Given the description of an element on the screen output the (x, y) to click on. 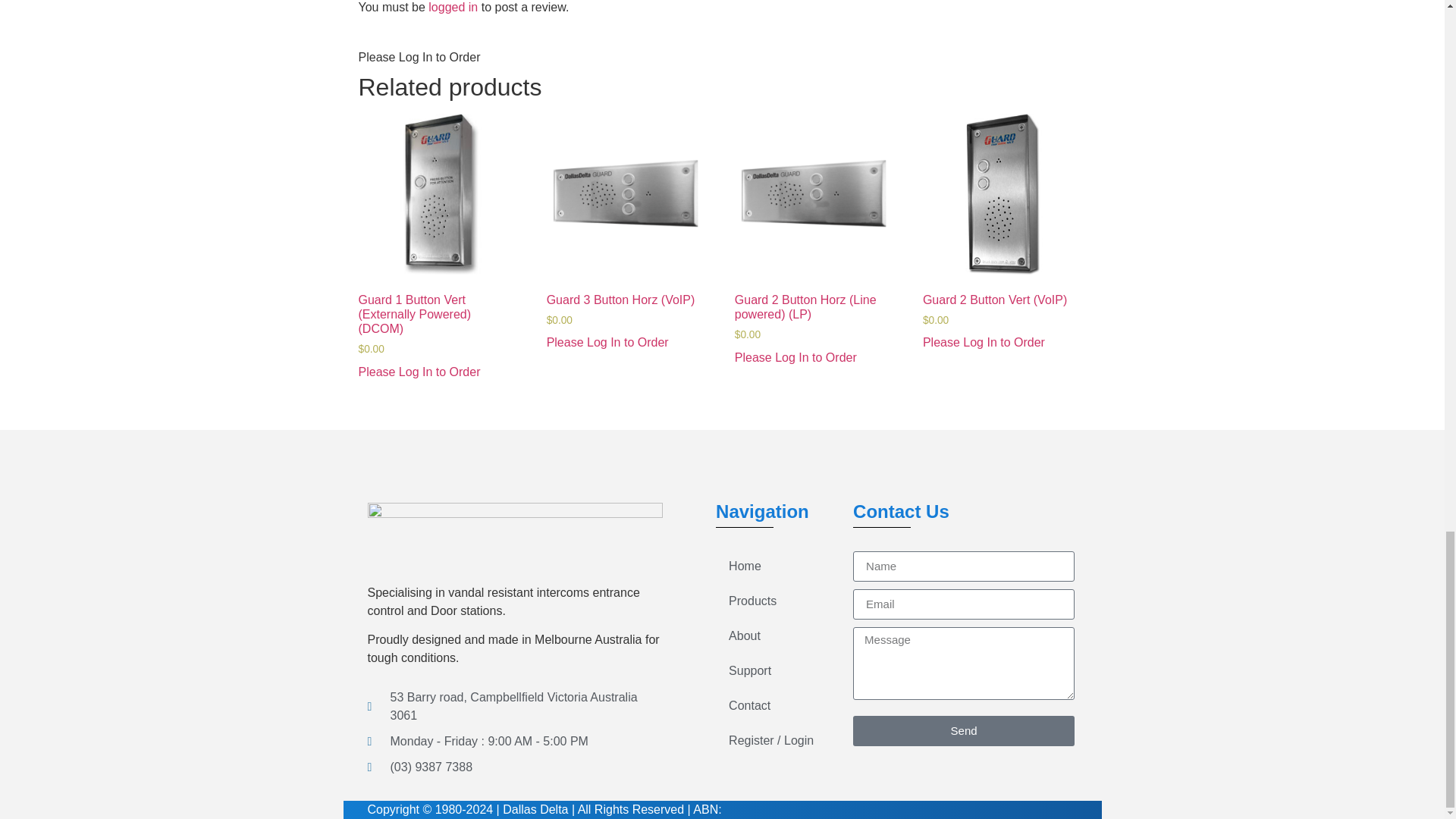
Home (770, 565)
53 Barry road, Campbellfield Victoria Australia 3061 (514, 706)
Monday - Friday : 9:00 AM - 5:00 PM (514, 741)
logged in (452, 6)
